Given the description of an element on the screen output the (x, y) to click on. 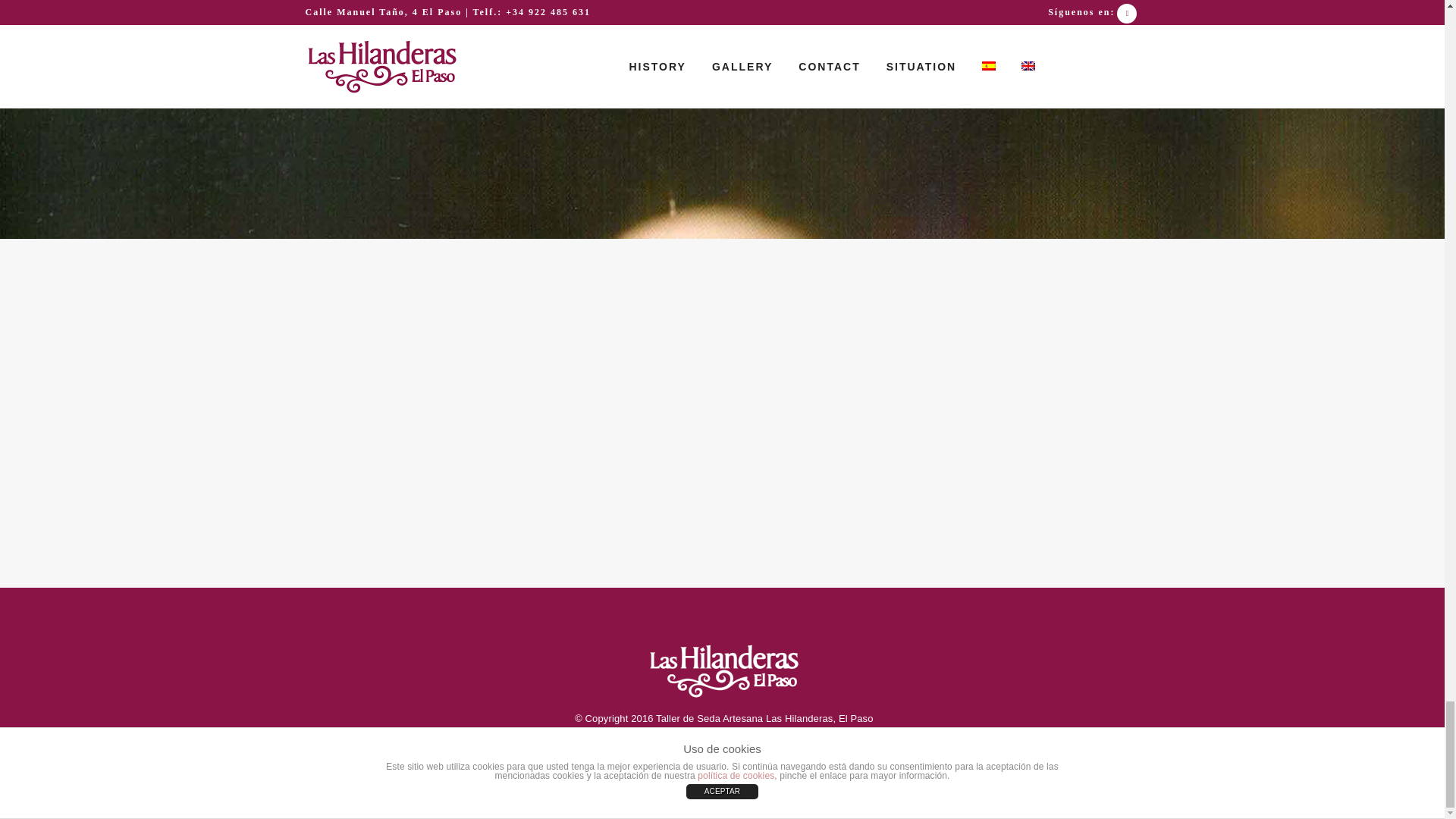
WWW.MUTEMUDO.COM (763, 764)
